Given the description of an element on the screen output the (x, y) to click on. 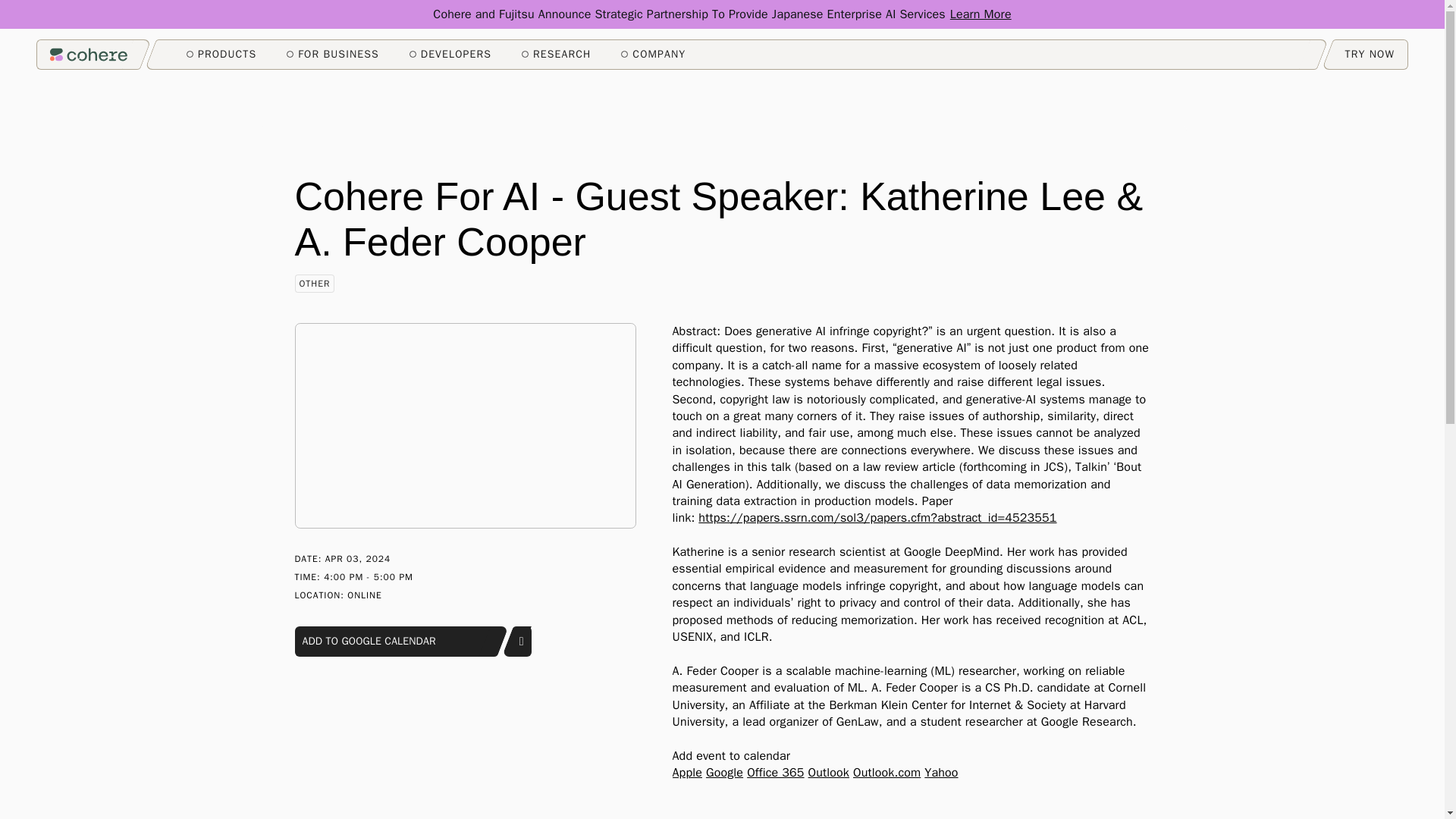
TRY NOW (1370, 54)
DEVELOPERS (450, 54)
COMPANY (653, 54)
Outlook (828, 772)
RESEARCH (556, 54)
PRODUCTS (221, 54)
Yahoo (941, 772)
Learn More (980, 13)
Apple (686, 772)
FOR BUSINESS (332, 54)
